Given the description of an element on the screen output the (x, y) to click on. 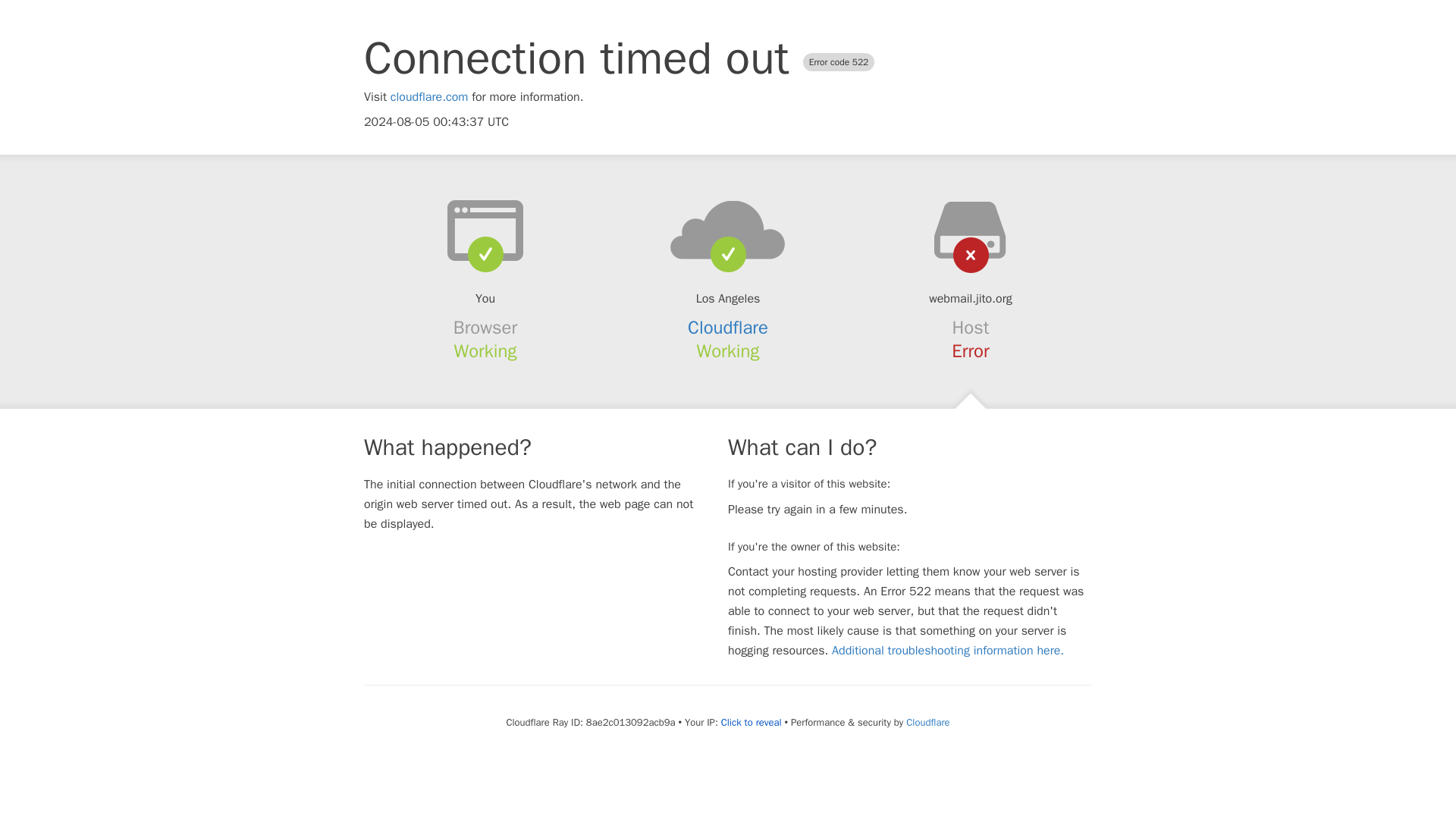
cloudflare.com (429, 96)
Cloudflare (727, 327)
Cloudflare (927, 721)
Additional troubleshooting information here. (947, 650)
Click to reveal (750, 722)
